Given the description of an element on the screen output the (x, y) to click on. 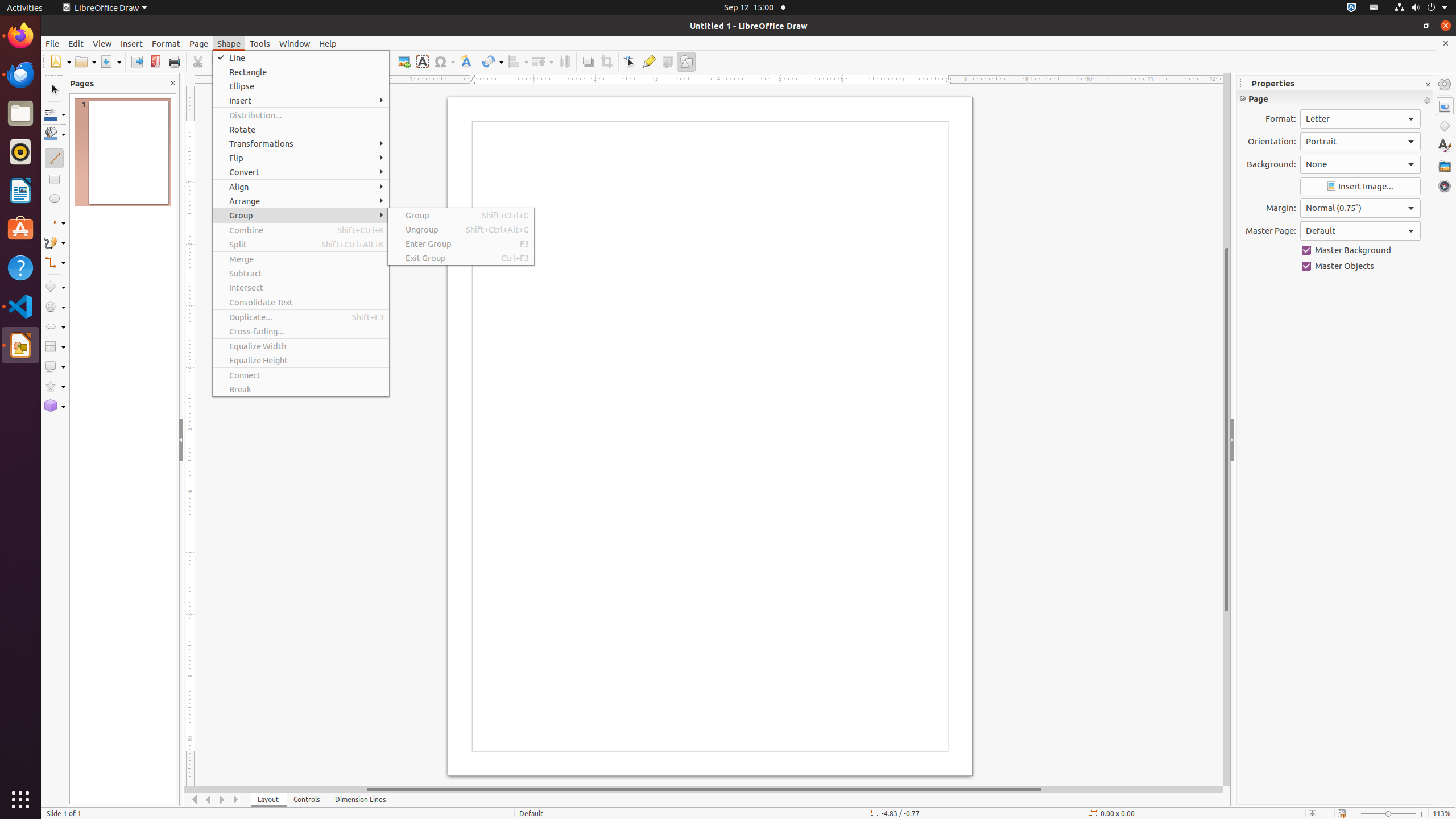
Consolidate Text Element type: menu-item (300, 302)
Select Element type: push-button (53, 89)
Styles Element type: radio-button (1444, 146)
Vertical scroll bar Element type: scroll-bar (1226, 429)
Navigator Element type: radio-button (1444, 185)
